Given the description of an element on the screen output the (x, y) to click on. 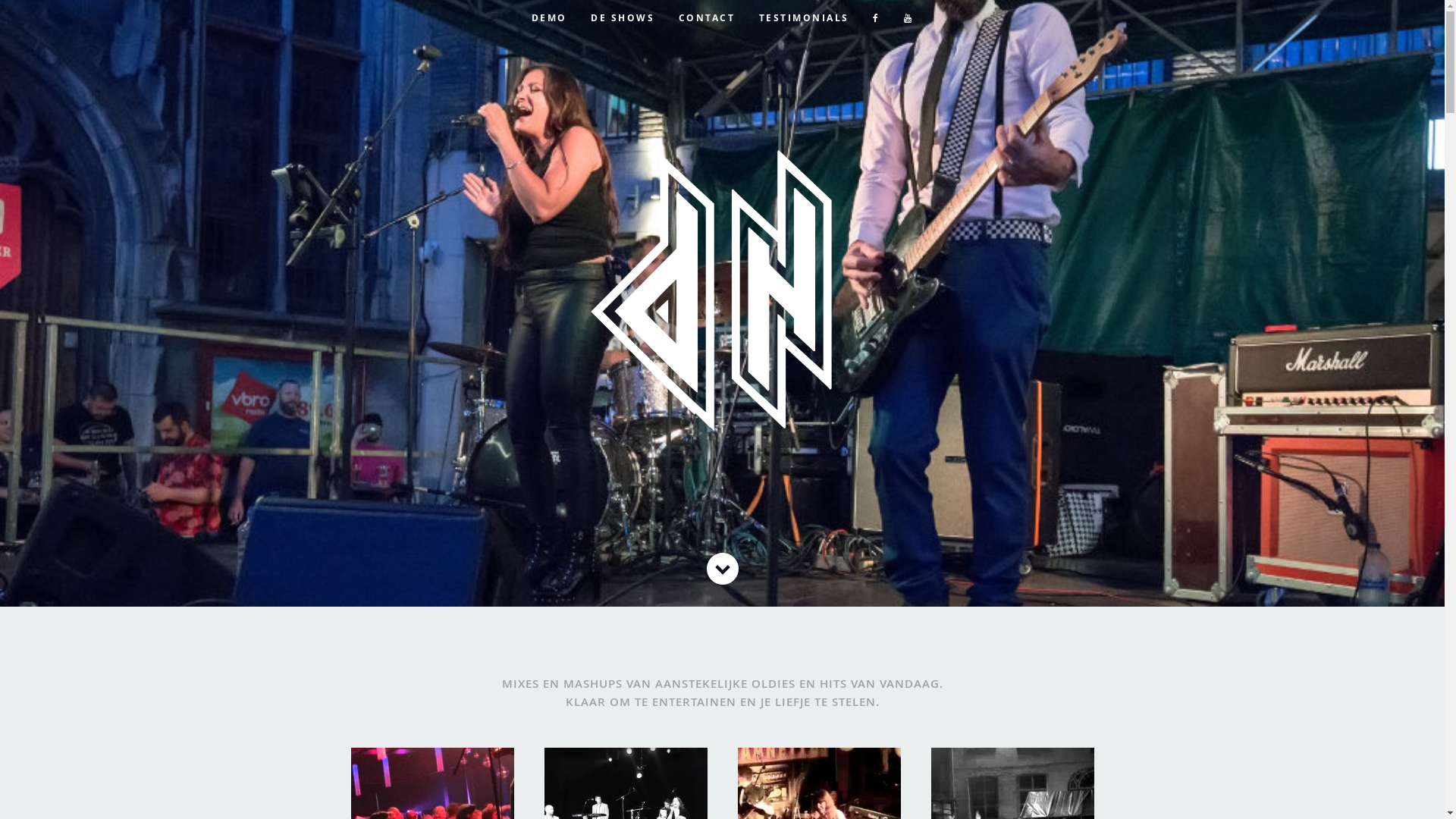
DEMO Element type: text (549, 18)
CONTACT Element type: text (706, 18)
TESTIMONIALS Element type: text (804, 18)
DE SHOWS Element type: text (622, 18)
